Given the description of an element on the screen output the (x, y) to click on. 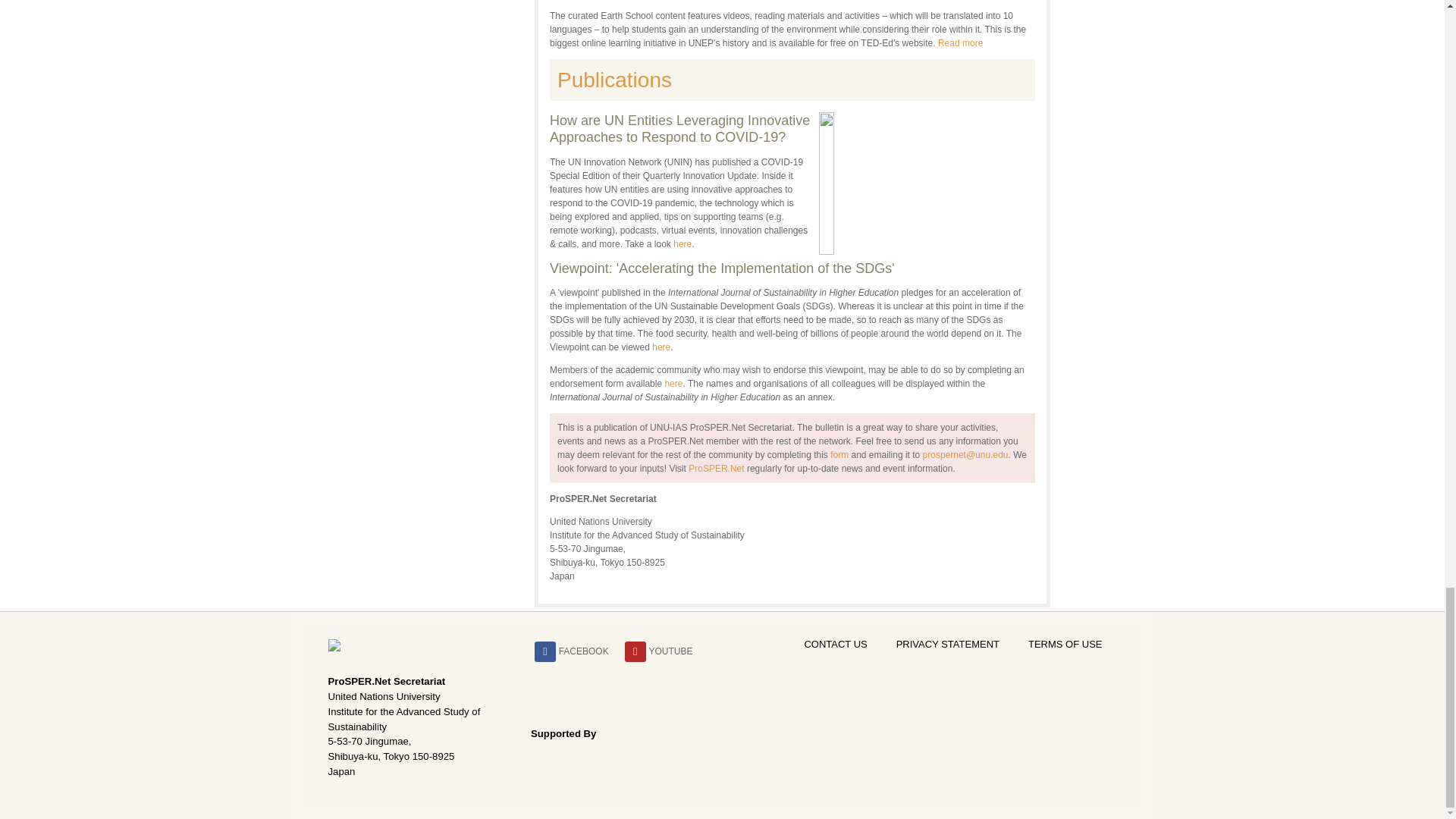
Facebook (545, 651)
YouTube (670, 649)
Facebook (583, 649)
YouTube (635, 651)
